Given the description of an element on the screen output the (x, y) to click on. 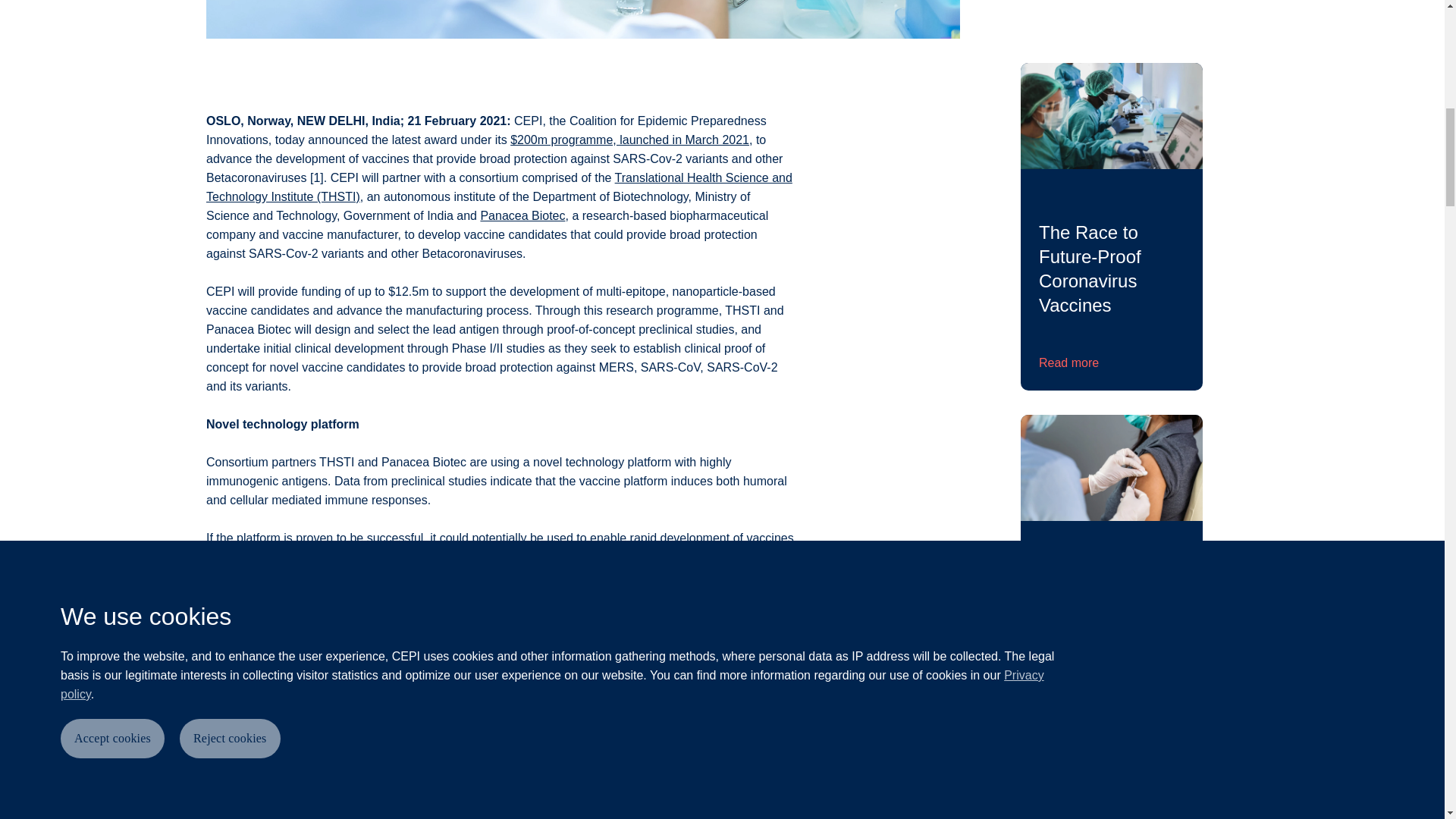
Panacea Biotec (522, 215)
Read more (1069, 362)
Read more (1069, 714)
